Given the description of an element on the screen output the (x, y) to click on. 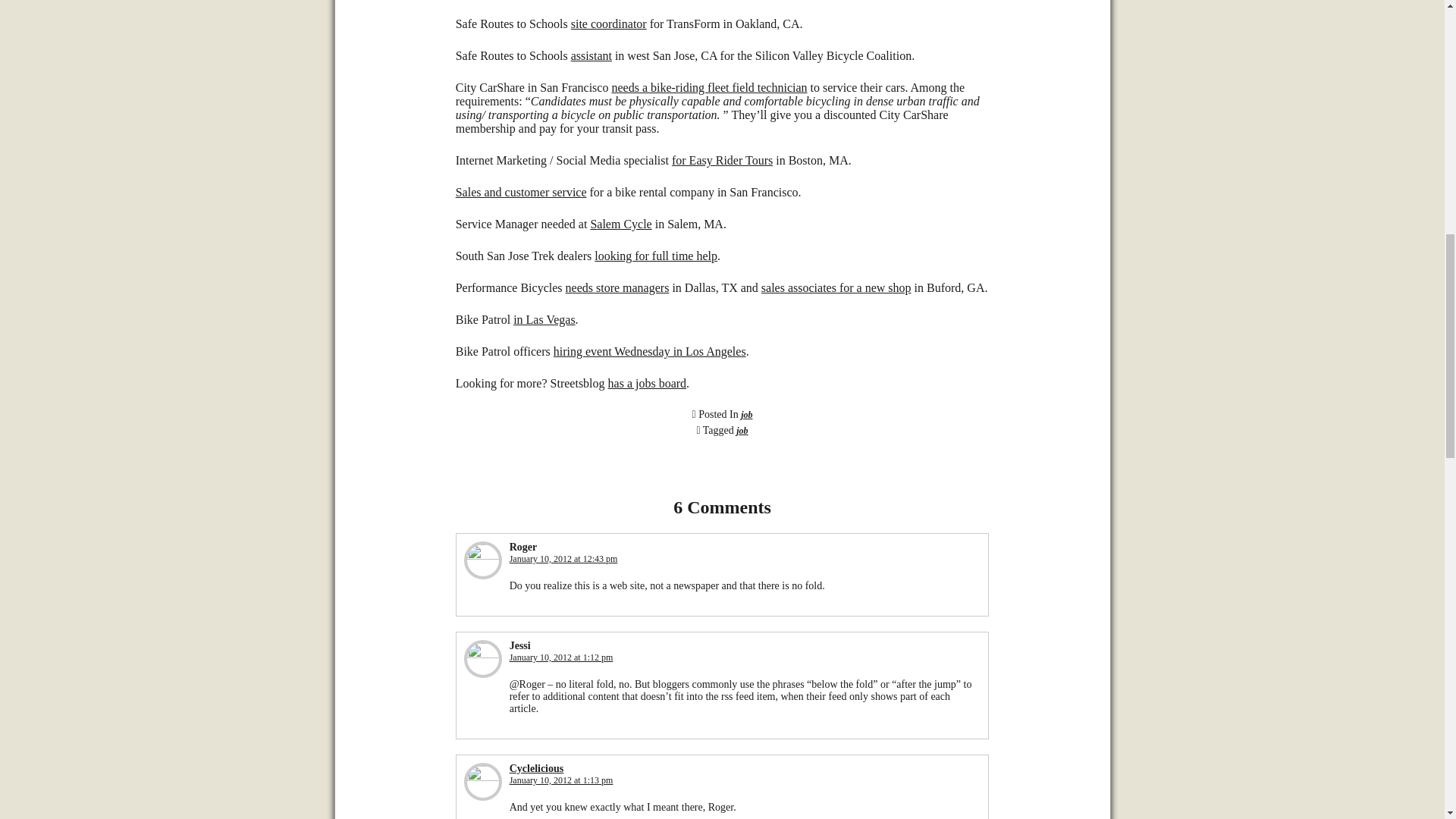
job (746, 414)
has a jobs board (647, 382)
needs store managers (617, 287)
hiring event Wednesday in Los Angeles (649, 350)
site coordinator (608, 23)
for Easy Rider Tours (722, 160)
assistant (590, 55)
Salem Cycle (619, 223)
in Las Vegas (544, 318)
sales associates for a new shop (836, 287)
